Given the description of an element on the screen output the (x, y) to click on. 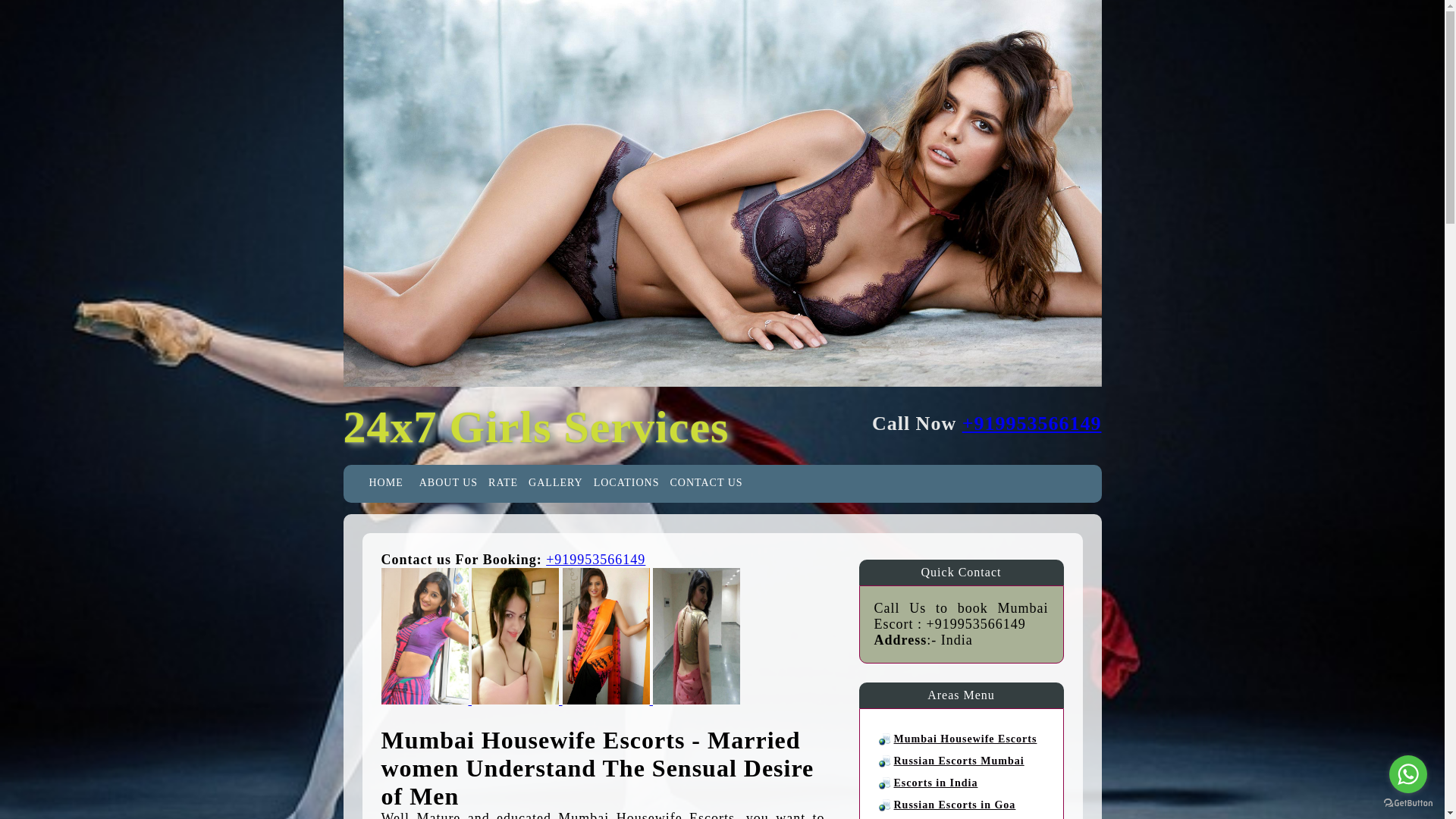
RATE (502, 483)
LOCATIONS (626, 483)
Escorts in India (934, 782)
Russian Escorts in Goa (953, 804)
Mumbai Housewife Escorts (964, 738)
Call Now (595, 559)
Russian Escorts Mumbai (958, 760)
24x7 Girls Services (535, 427)
HOME (385, 483)
CONTACT US (705, 483)
